Given the description of an element on the screen output the (x, y) to click on. 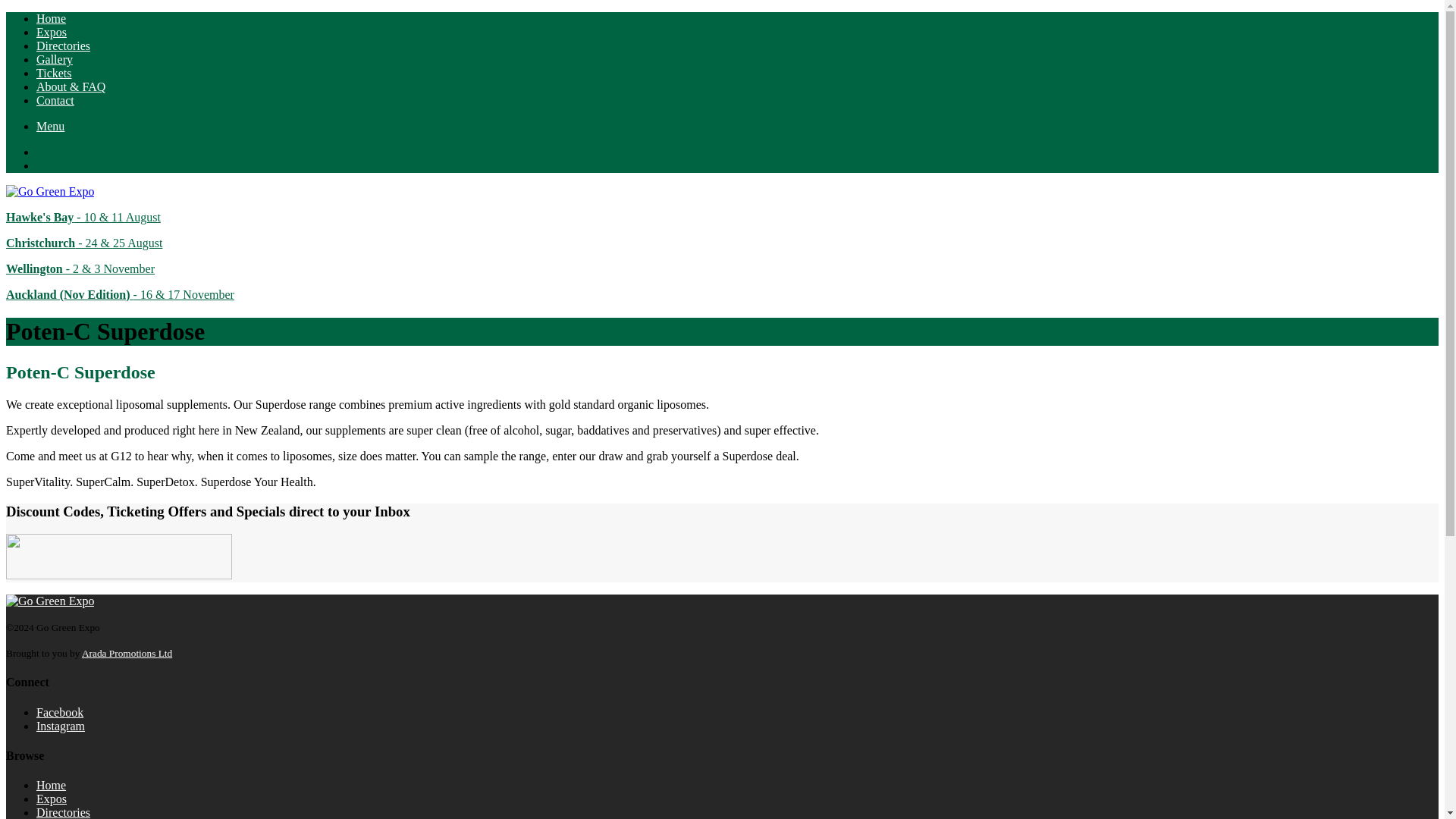
Expo (119, 294)
Gallery (54, 59)
Expos (51, 31)
Expo (83, 242)
Facebook (59, 712)
Home (50, 784)
Tickets (53, 72)
Arada Promotions Ltd (126, 653)
Instagram (60, 725)
Directories (63, 812)
Contact (55, 100)
Expo (82, 216)
Directories (63, 45)
Home (50, 18)
Menu (50, 125)
